Given the description of an element on the screen output the (x, y) to click on. 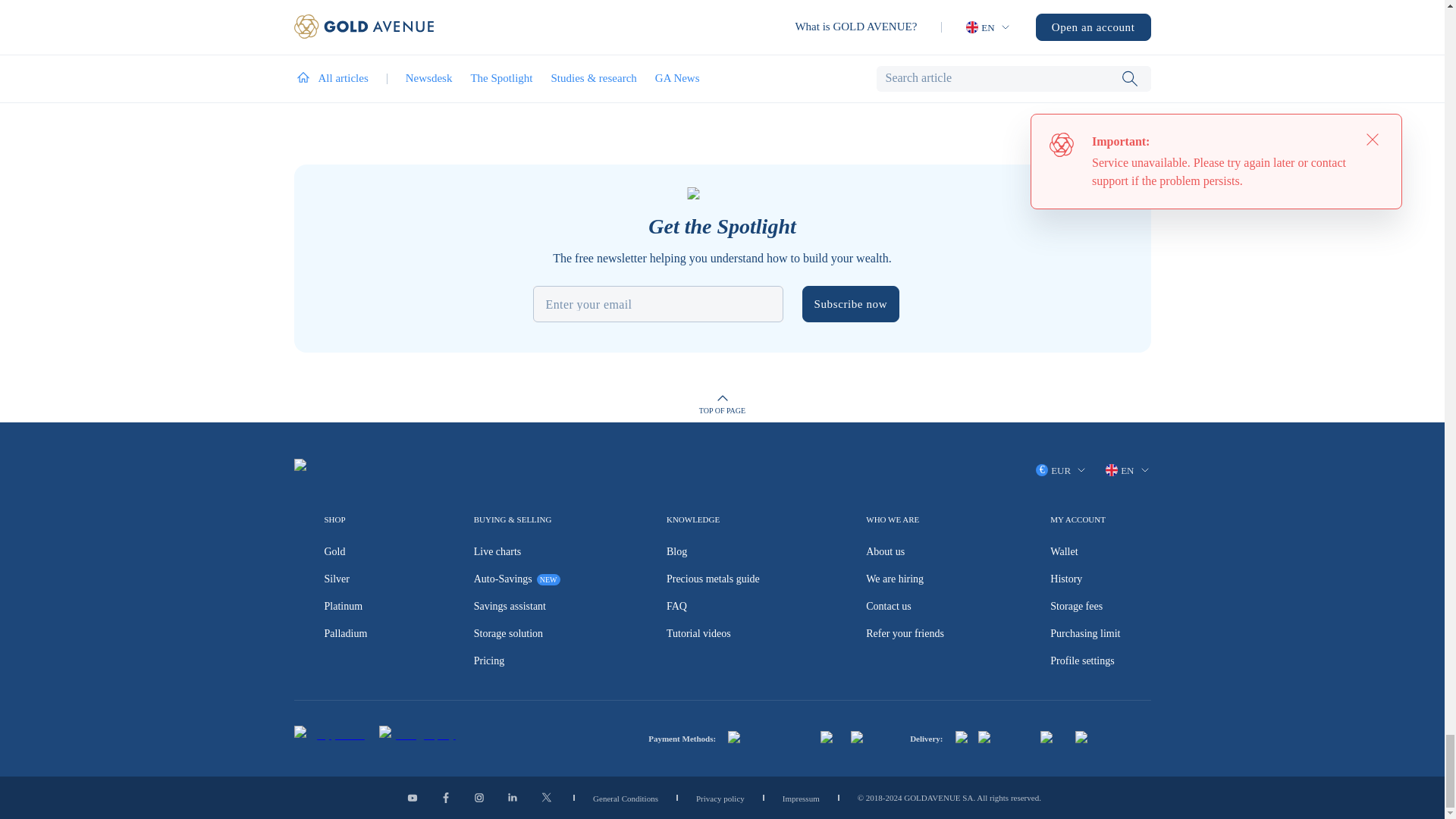
Central bank (432, 47)
Investing (633, 29)
Inflation (339, 47)
How-to (381, 47)
